Given the description of an element on the screen output the (x, y) to click on. 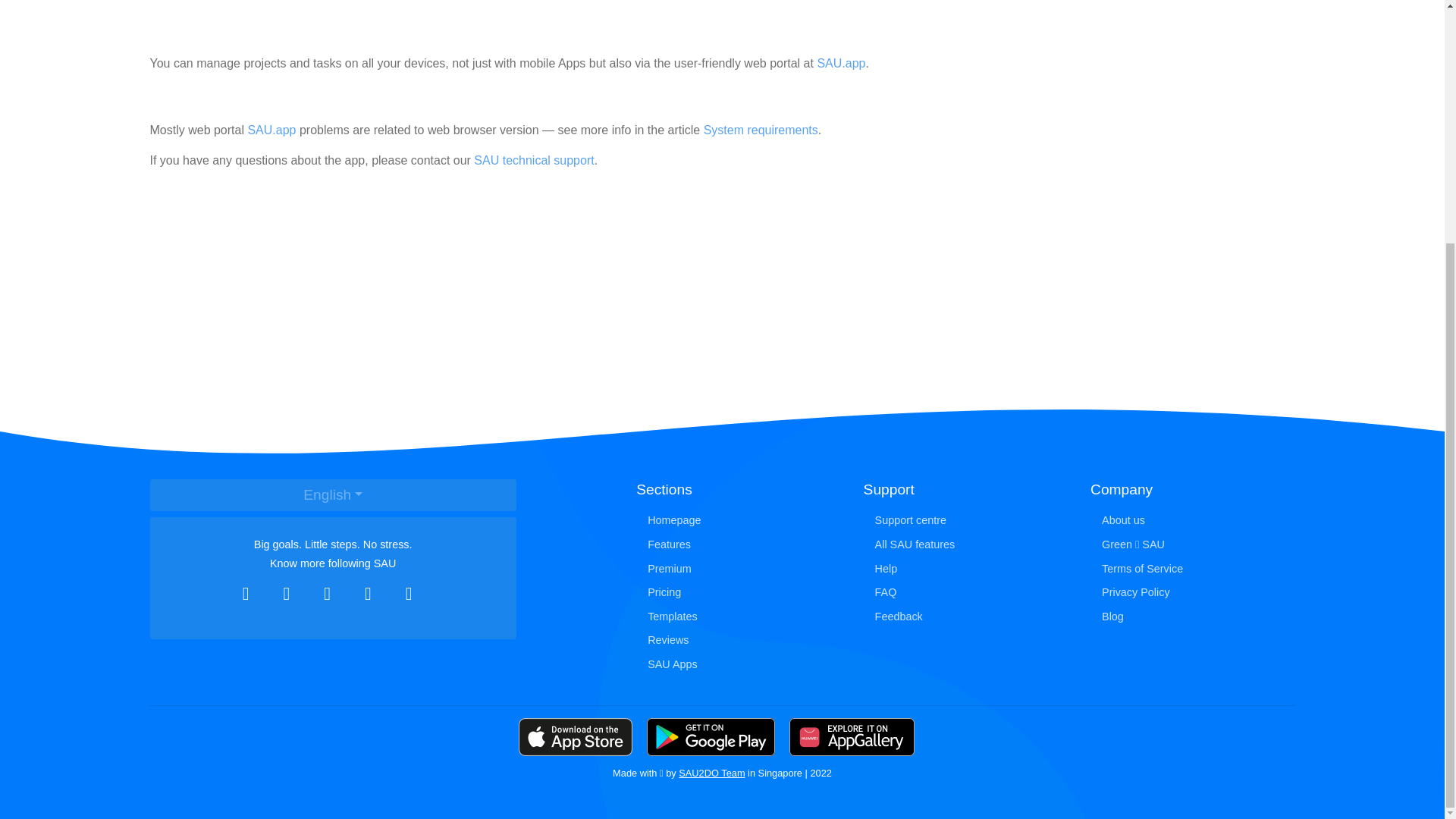
System requirements (760, 129)
Premium (737, 569)
SAU.app System requirements (760, 129)
English (333, 495)
SAU.app (840, 62)
FAQ (966, 592)
SAU.app (271, 129)
SAU Apps (737, 664)
Blog (1192, 617)
About us (1192, 520)
Templates (737, 617)
SAU technical support (534, 160)
Reviews (737, 640)
Feedback (966, 617)
SAU.app (840, 62)
